Given the description of an element on the screen output the (x, y) to click on. 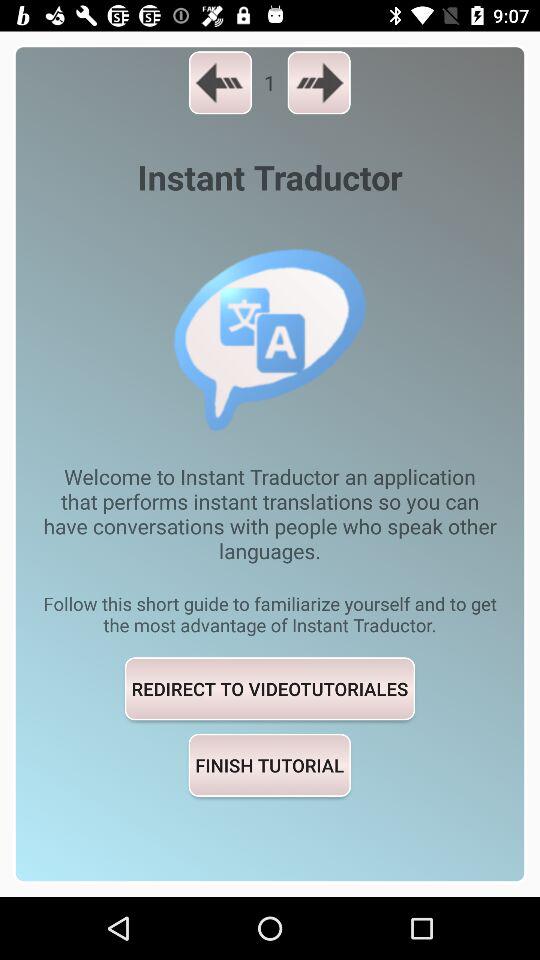
tap redirect to videotutoriales icon (269, 688)
